Given the description of an element on the screen output the (x, y) to click on. 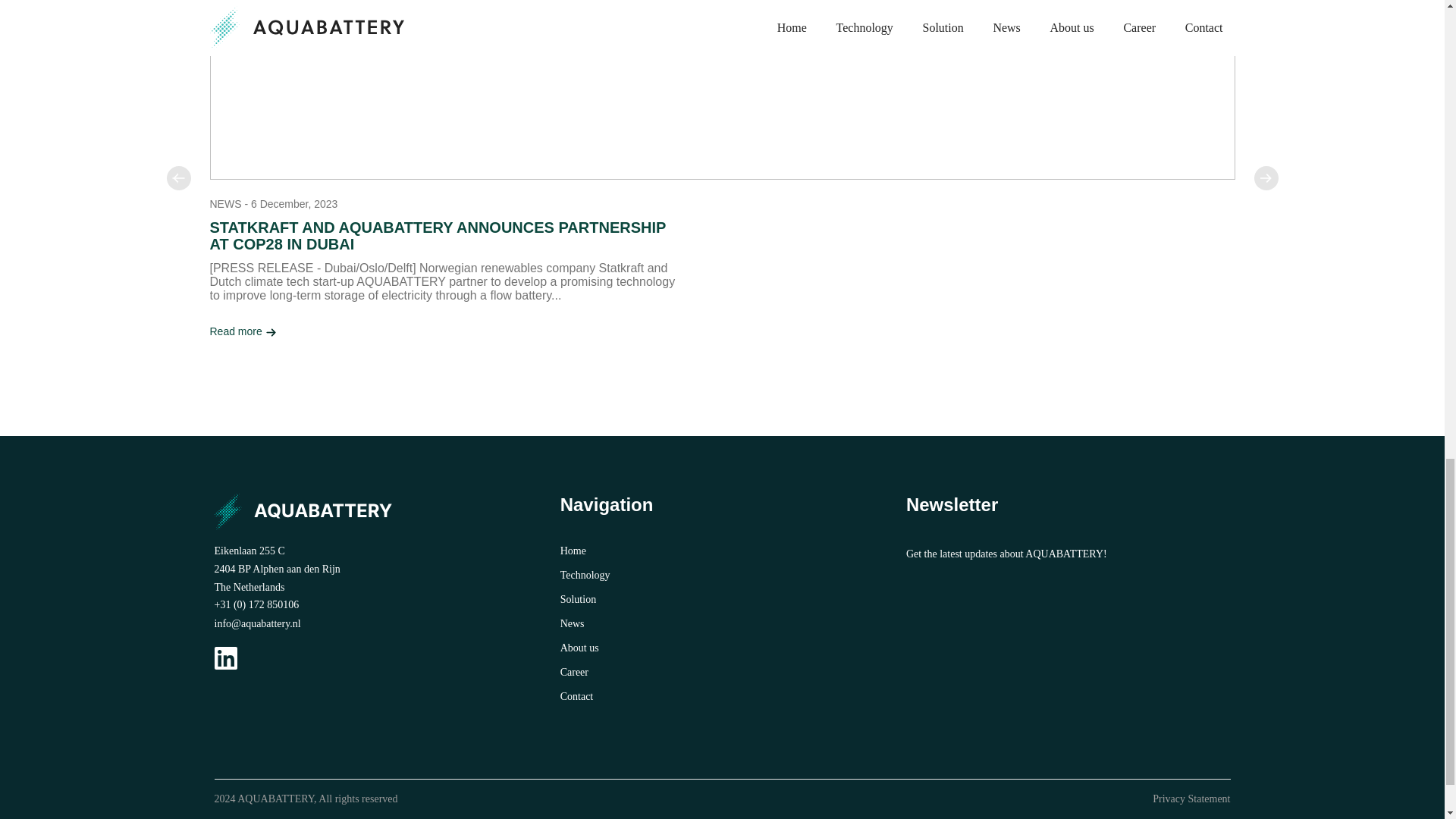
Read more (242, 331)
NEWS (225, 203)
logo-white (311, 511)
